Given the description of an element on the screen output the (x, y) to click on. 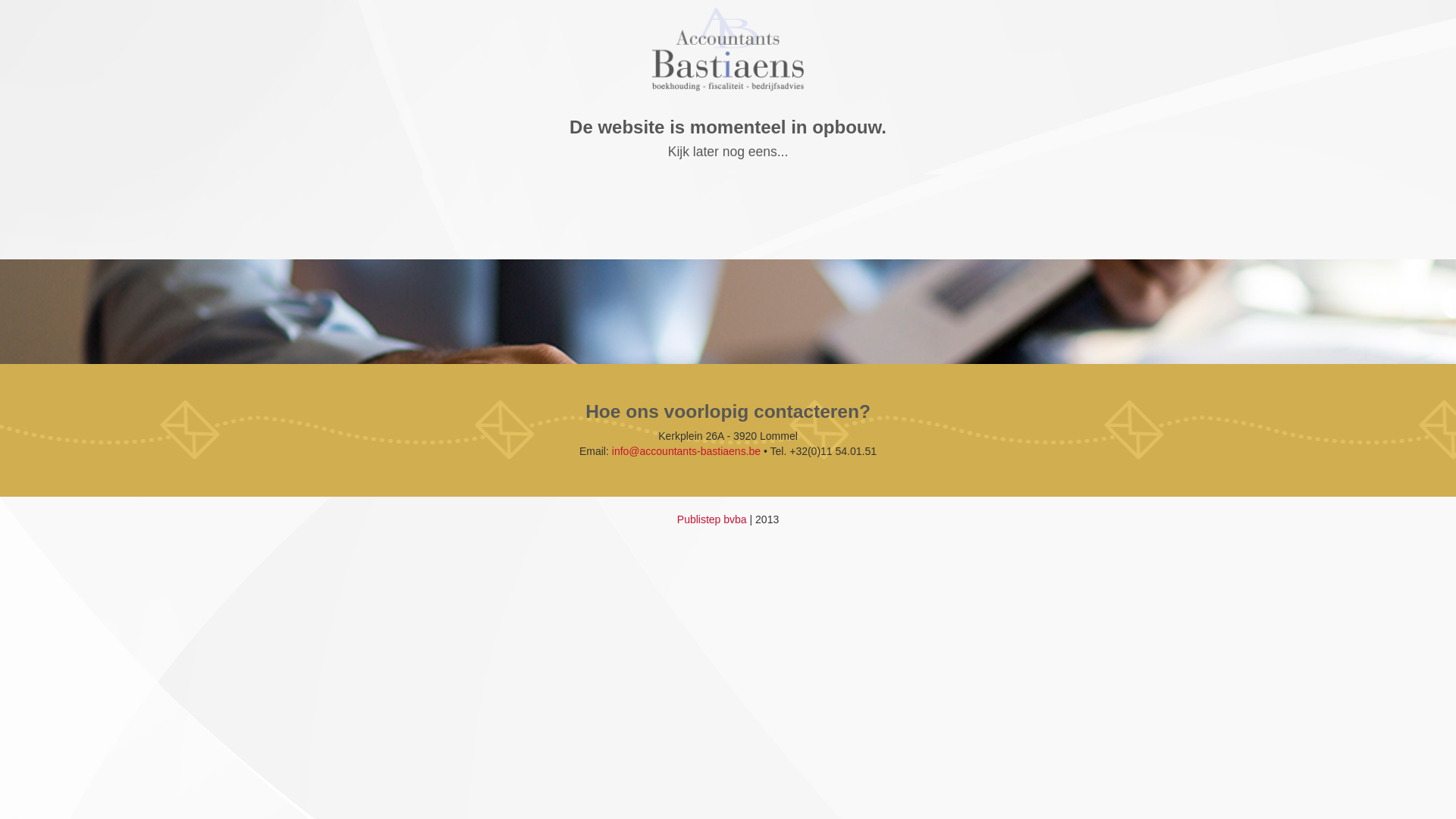
info@accountants-bastiaens.be Element type: text (685, 451)
Publistep bvba Element type: text (711, 519)
